Given the description of an element on the screen output the (x, y) to click on. 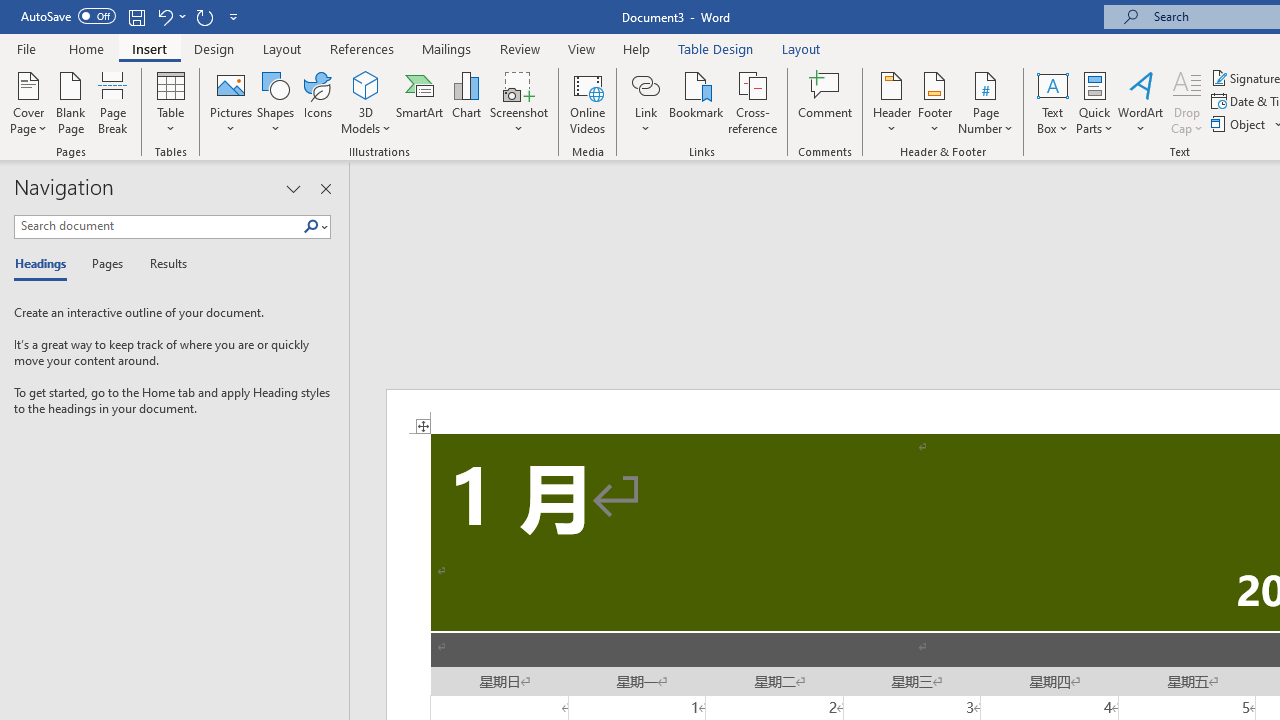
3D Models (366, 84)
Header (891, 102)
Table (170, 102)
Online Videos... (588, 102)
Shapes (275, 102)
Results (161, 264)
Pages (105, 264)
